Given the description of an element on the screen output the (x, y) to click on. 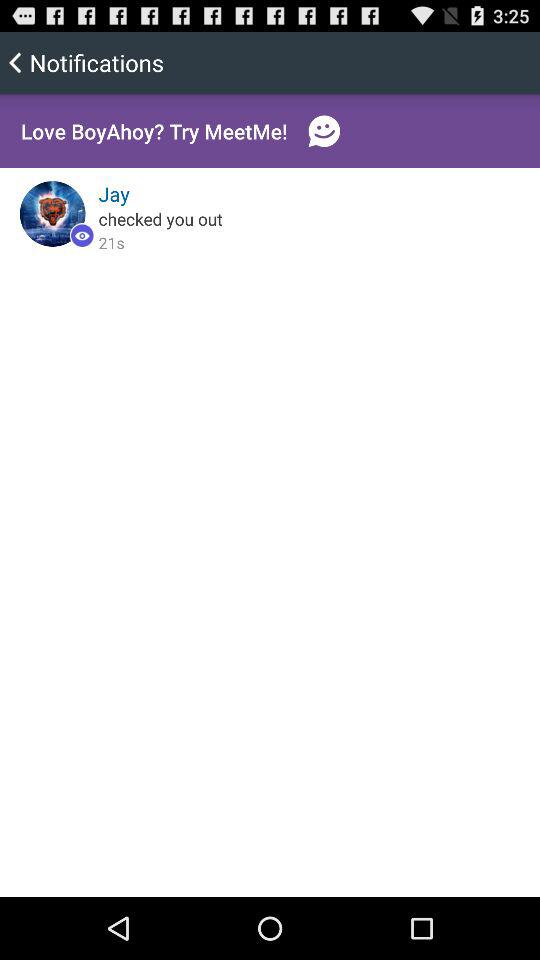
select the jay item (113, 193)
